Given the description of an element on the screen output the (x, y) to click on. 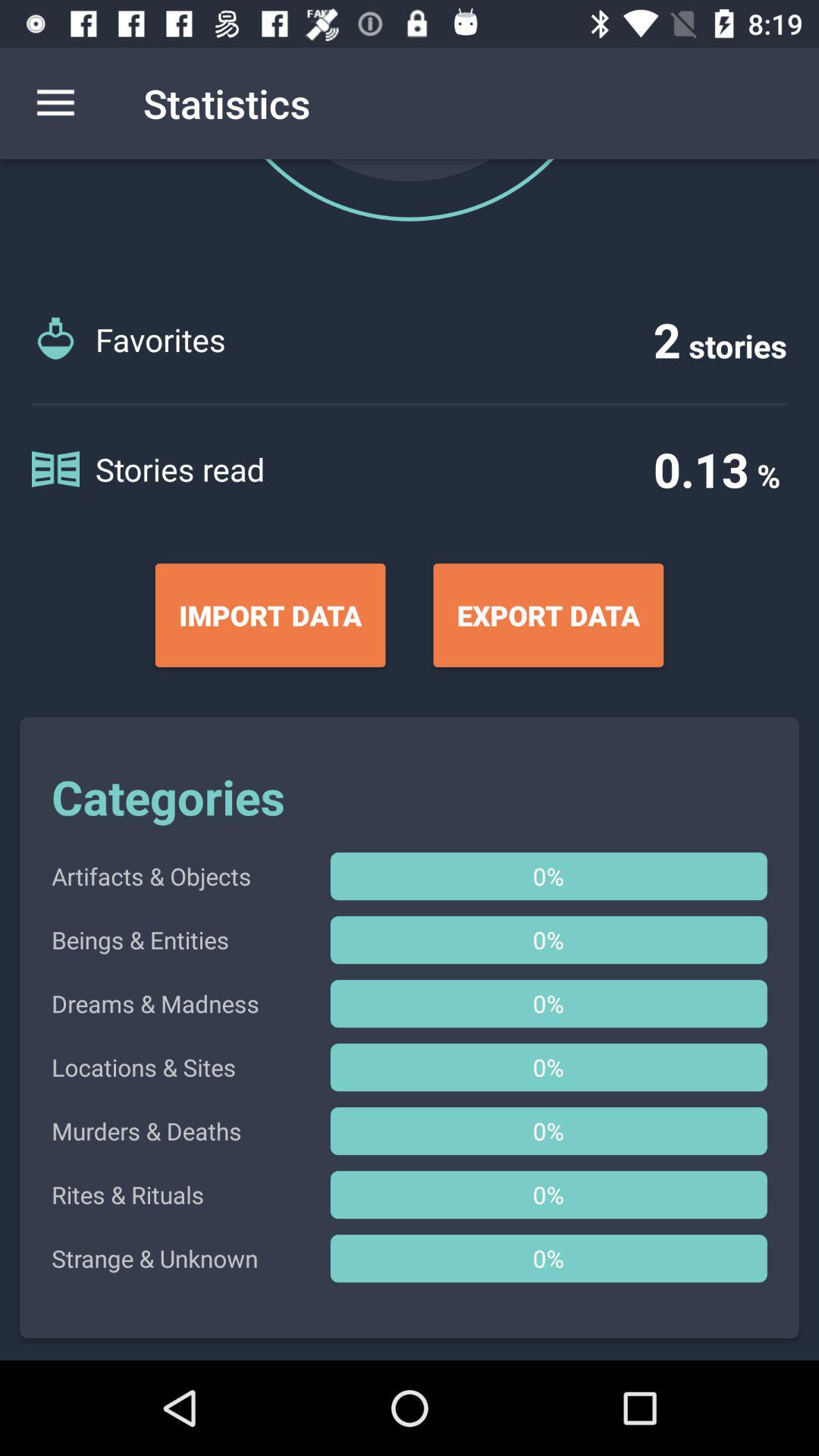
choose import data (270, 615)
